Given the description of an element on the screen output the (x, y) to click on. 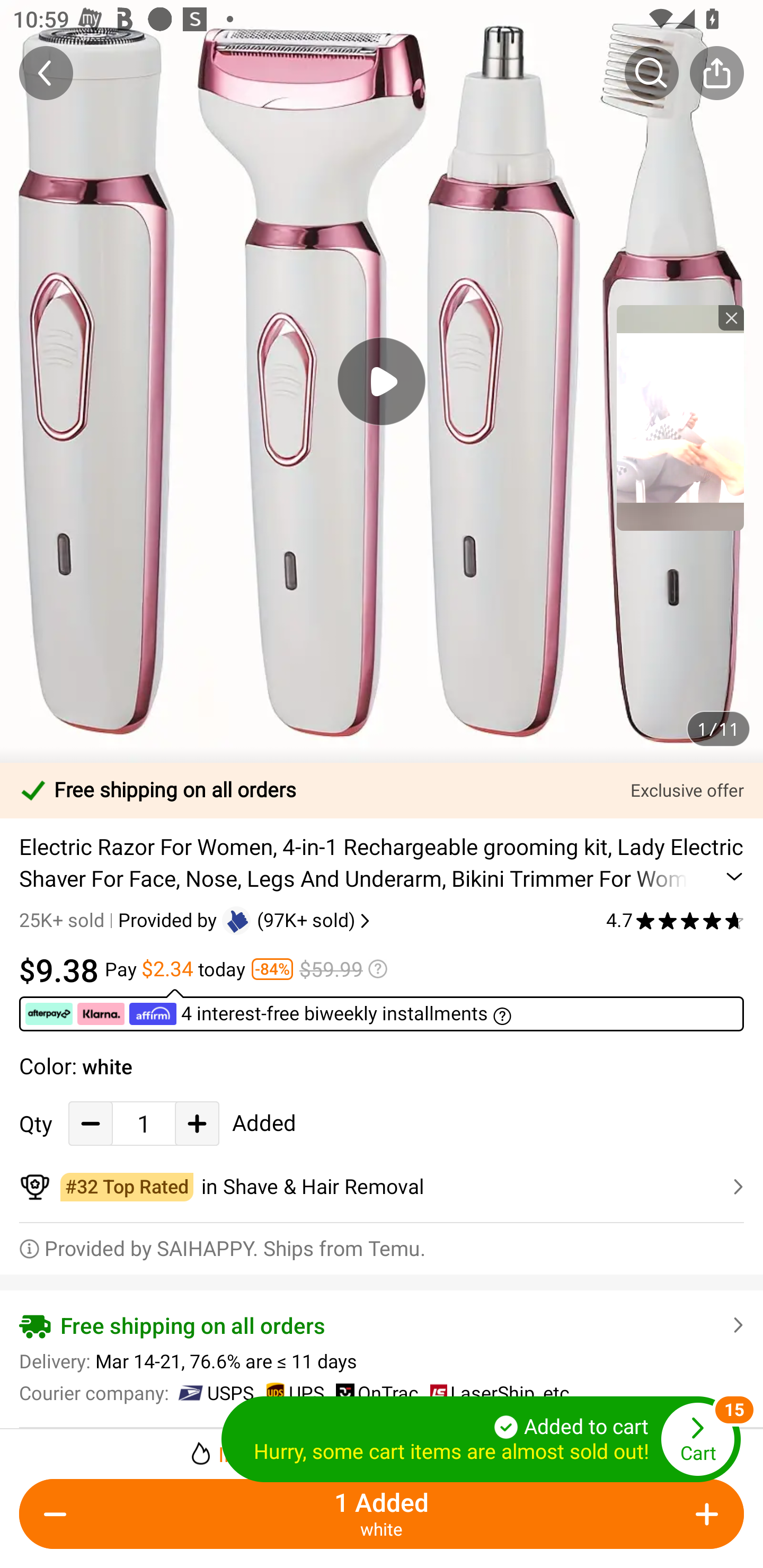
Back (46, 72)
Share (716, 72)
tronplayer_view (680, 417)
Free shipping on all orders Exclusive offer (381, 790)
25K+ sold Provided by  (120, 920)
4.7 (674, 920)
￼ ￼ ￼ 4 interest-free biweekly installments ￼ (381, 1009)
Decrease Quantity Button (90, 1123)
1 (143, 1123)
Add Quantity button (196, 1123)
￼￼in Shave & Hair Removal (381, 1186)
Decrease Quantity Button (59, 1513)
Add Quantity button (703, 1513)
